Given the description of an element on the screen output the (x, y) to click on. 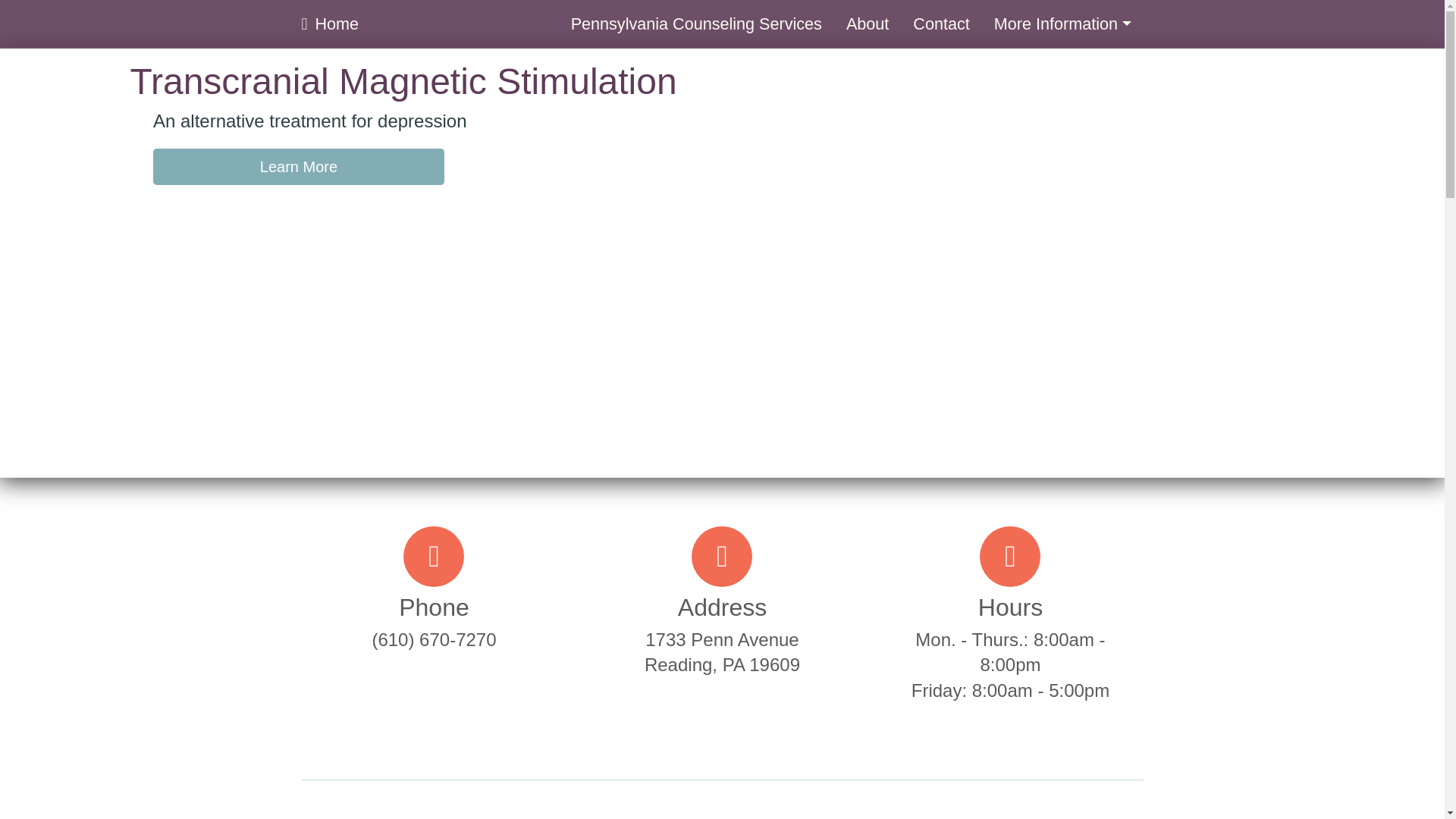
Contact (941, 23)
About (867, 23)
Learn More (298, 166)
Home (330, 24)
More Information (1061, 23)
